Given the description of an element on the screen output the (x, y) to click on. 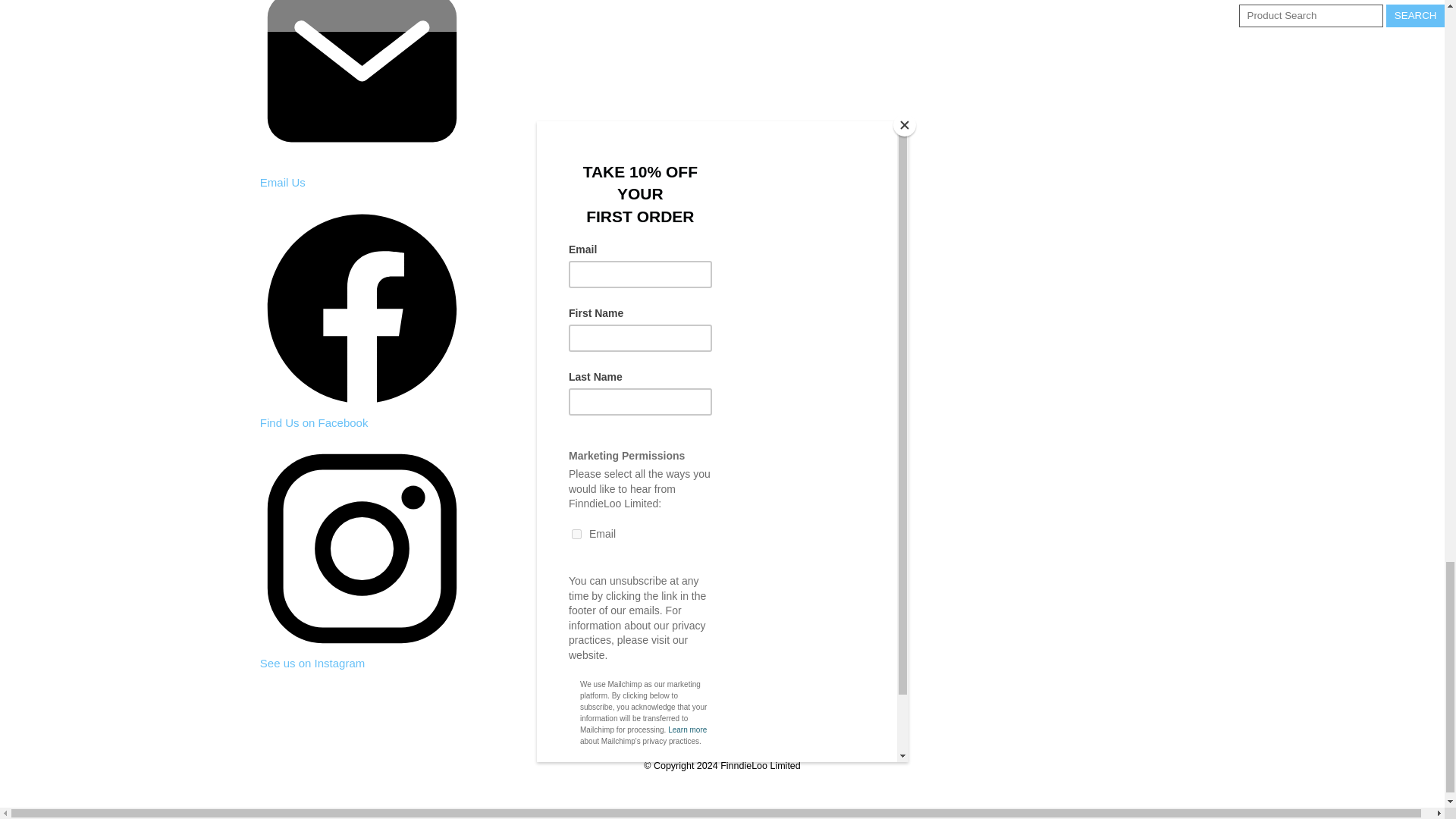
Visit our Instagram (312, 662)
Find Finndieloo on Facebook (314, 422)
